Given the description of an element on the screen output the (x, y) to click on. 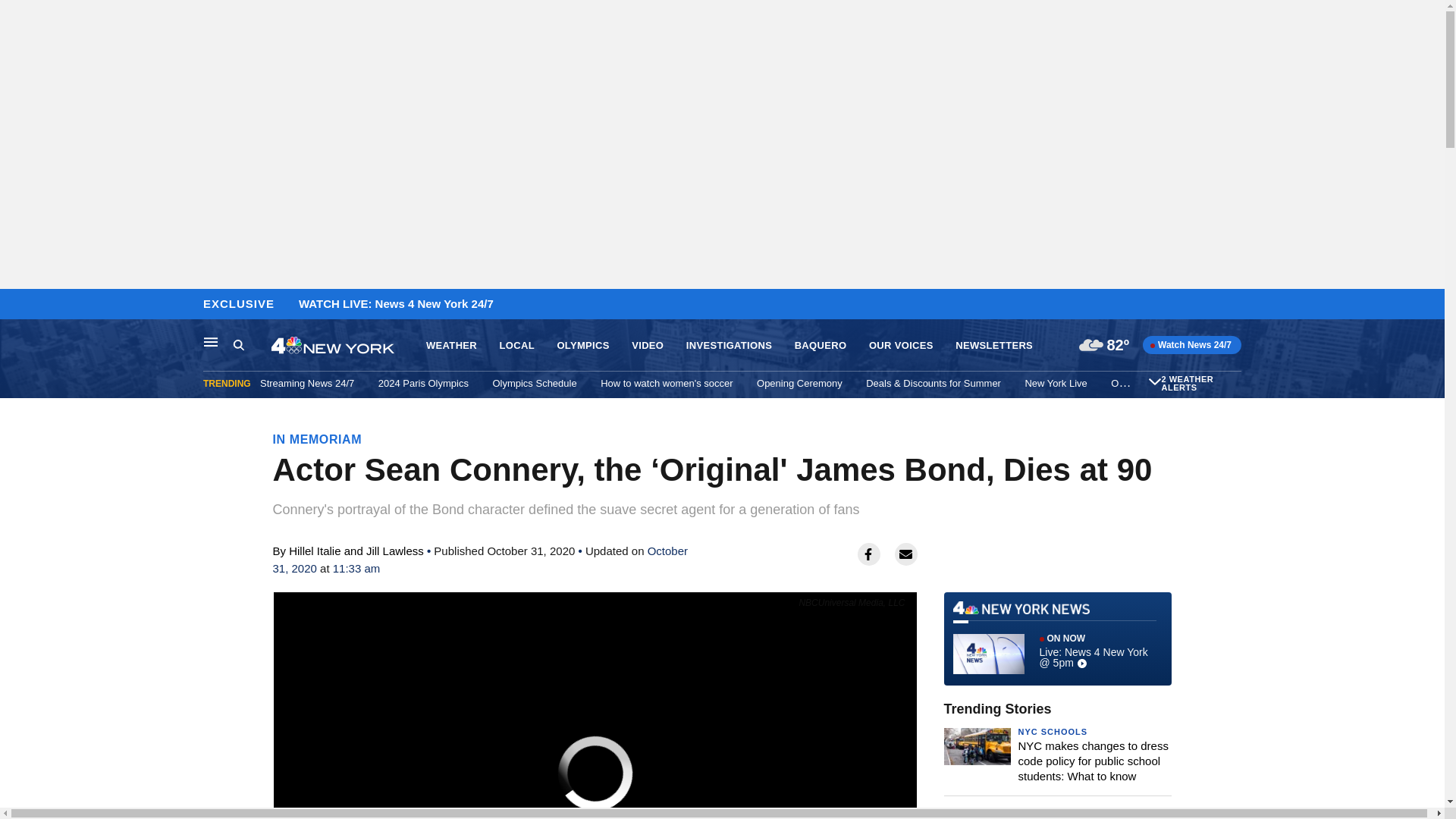
BAQUERO (820, 345)
Search (238, 344)
2024 Paris Olympics (423, 383)
Olympics Schedule (534, 383)
Open House (1138, 383)
Main Navigation (210, 341)
Opening Ceremony (800, 383)
Skip to content (16, 304)
VIDEO (647, 345)
OUR VOICES (901, 345)
New York Live (1055, 383)
INVESTIGATIONS (728, 345)
WEATHER (451, 345)
2 WEATHER ALERTS (1198, 383)
LOCAL (516, 345)
